Given the description of an element on the screen output the (x, y) to click on. 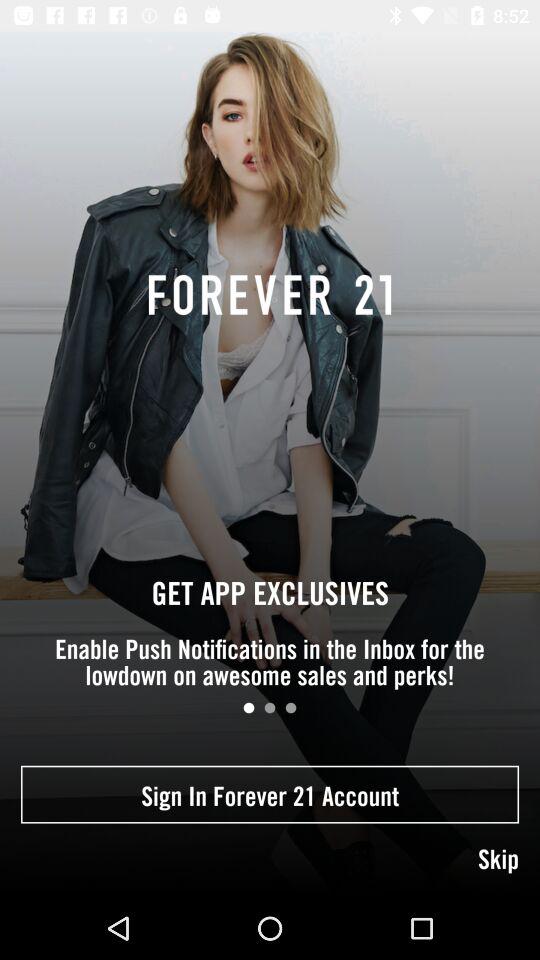
tap the item below enable push notifications item (269, 707)
